Given the description of an element on the screen output the (x, y) to click on. 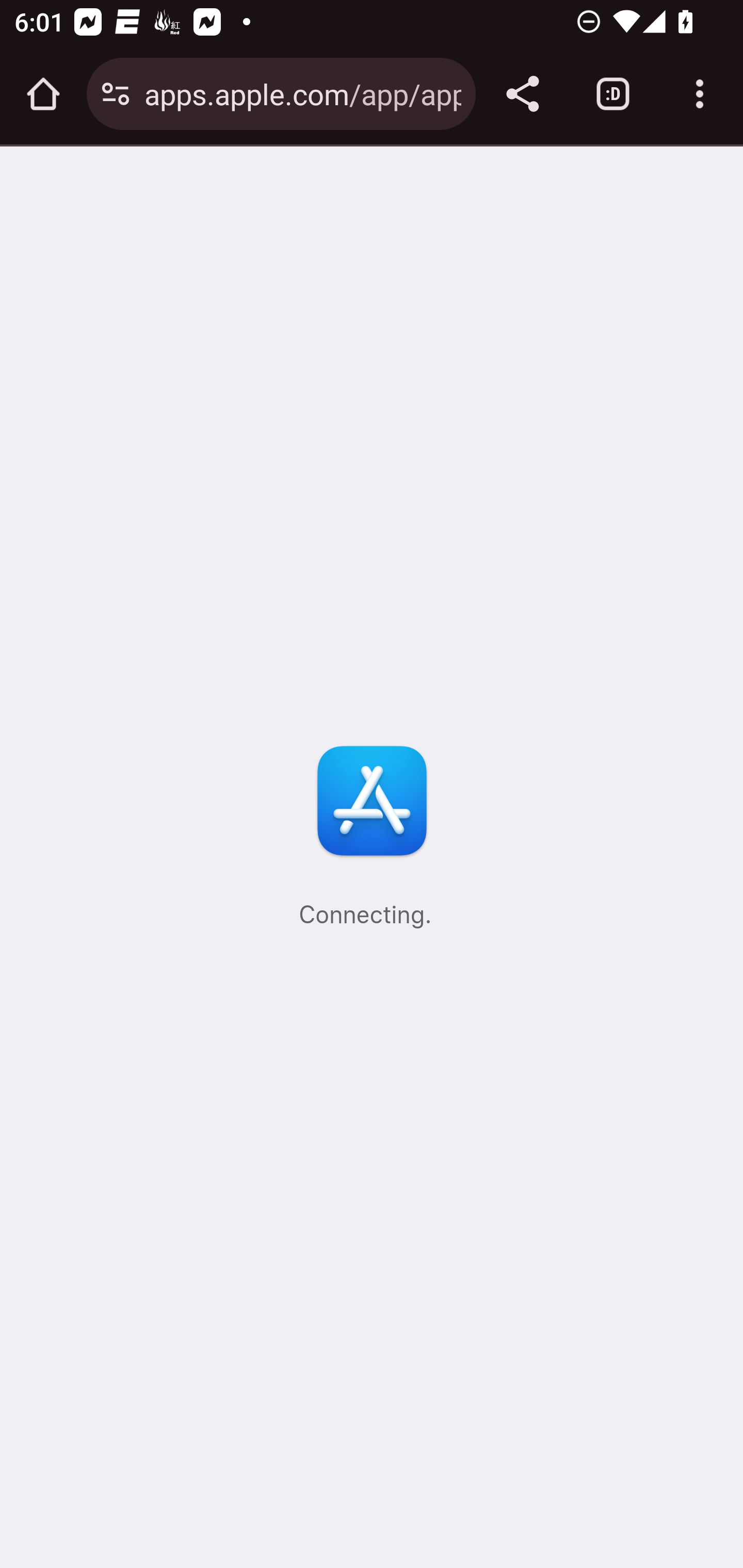
Open the home page (43, 93)
Connection is secure (115, 93)
Share (522, 93)
Switch or close tabs (612, 93)
Customize and control Google Chrome (699, 93)
